Given the description of an element on the screen output the (x, y) to click on. 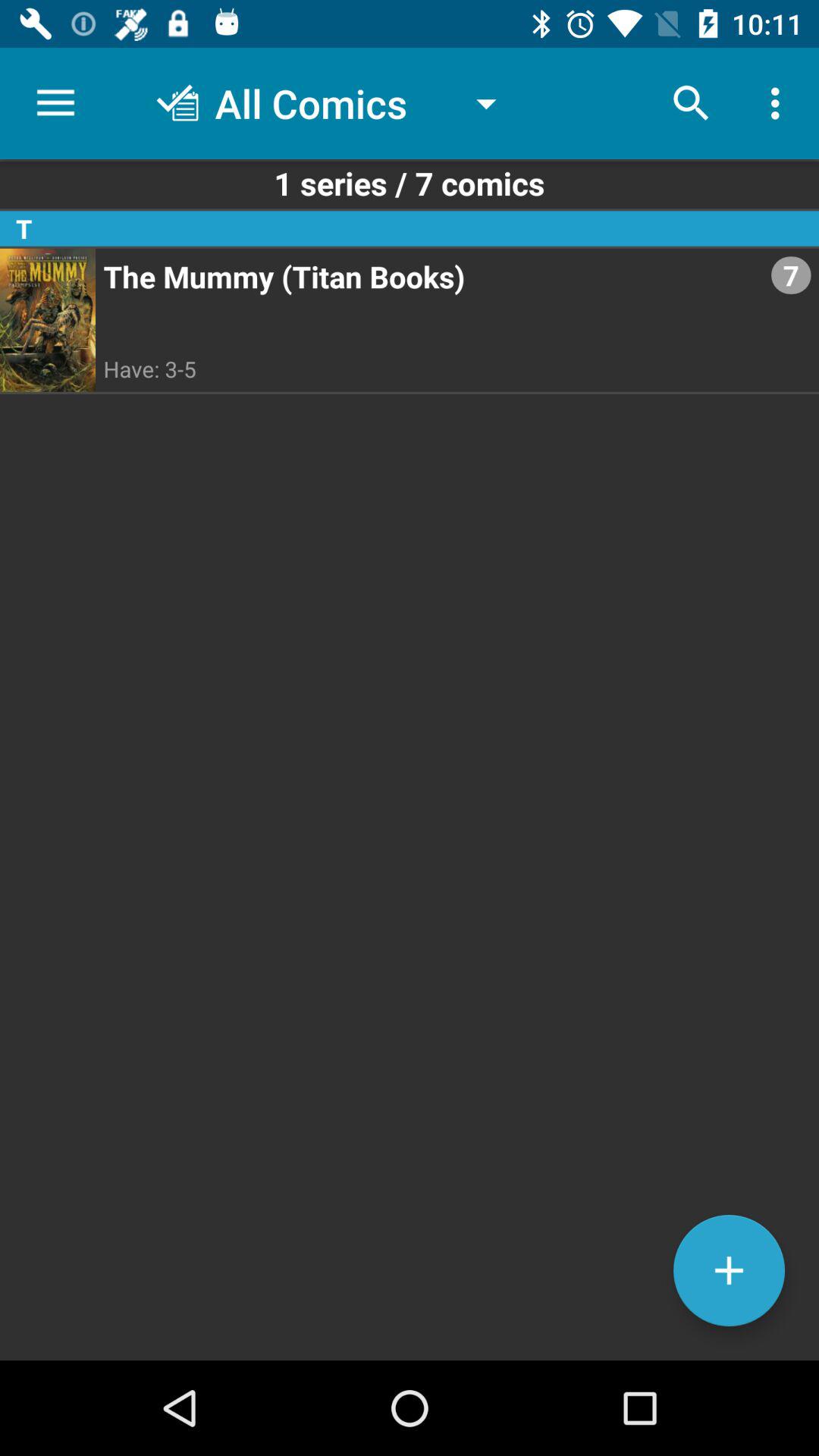
press the item above 1 series 7 icon (779, 103)
